Given the description of an element on the screen output the (x, y) to click on. 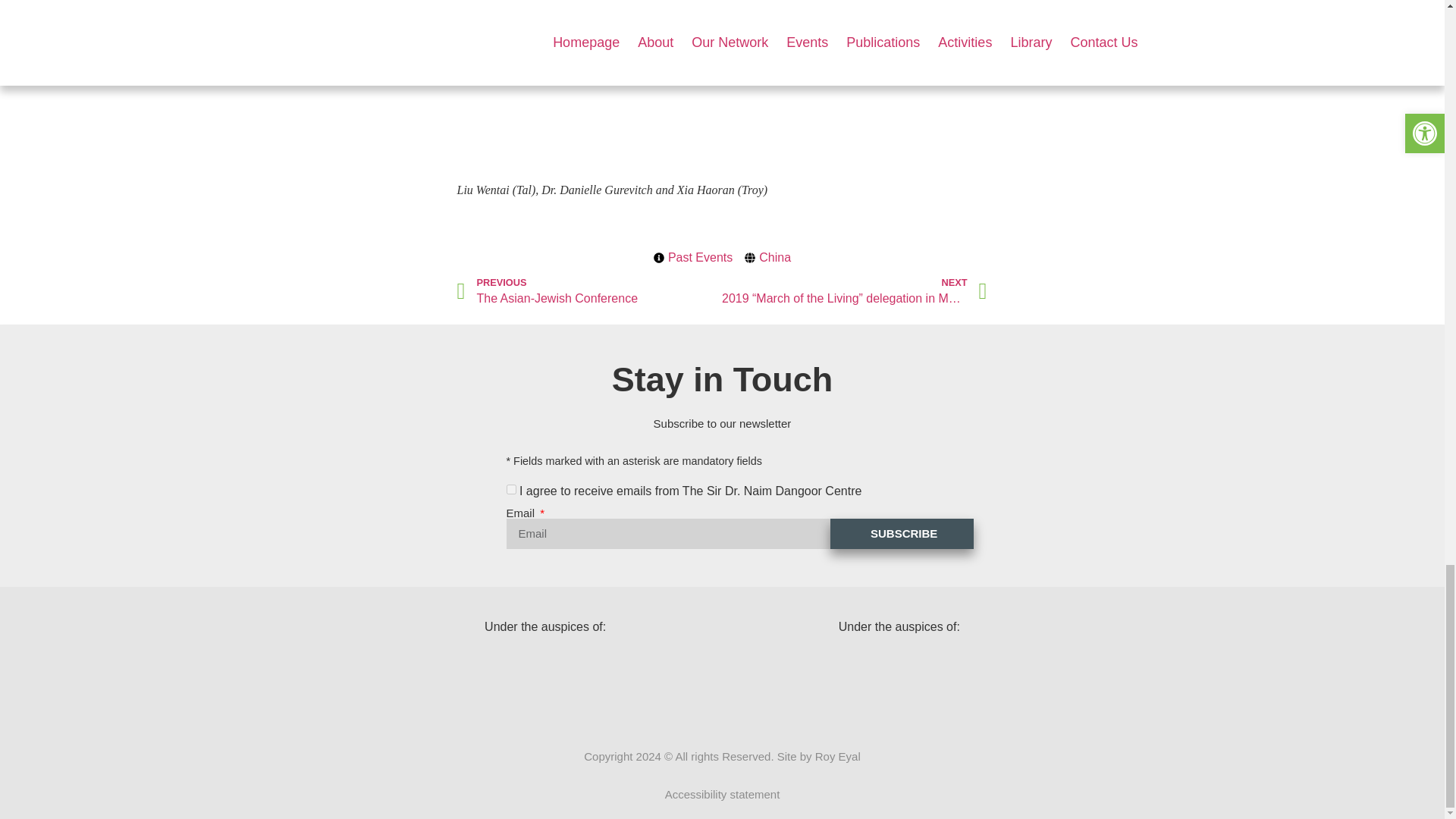
on (511, 489)
